Given the description of an element on the screen output the (x, y) to click on. 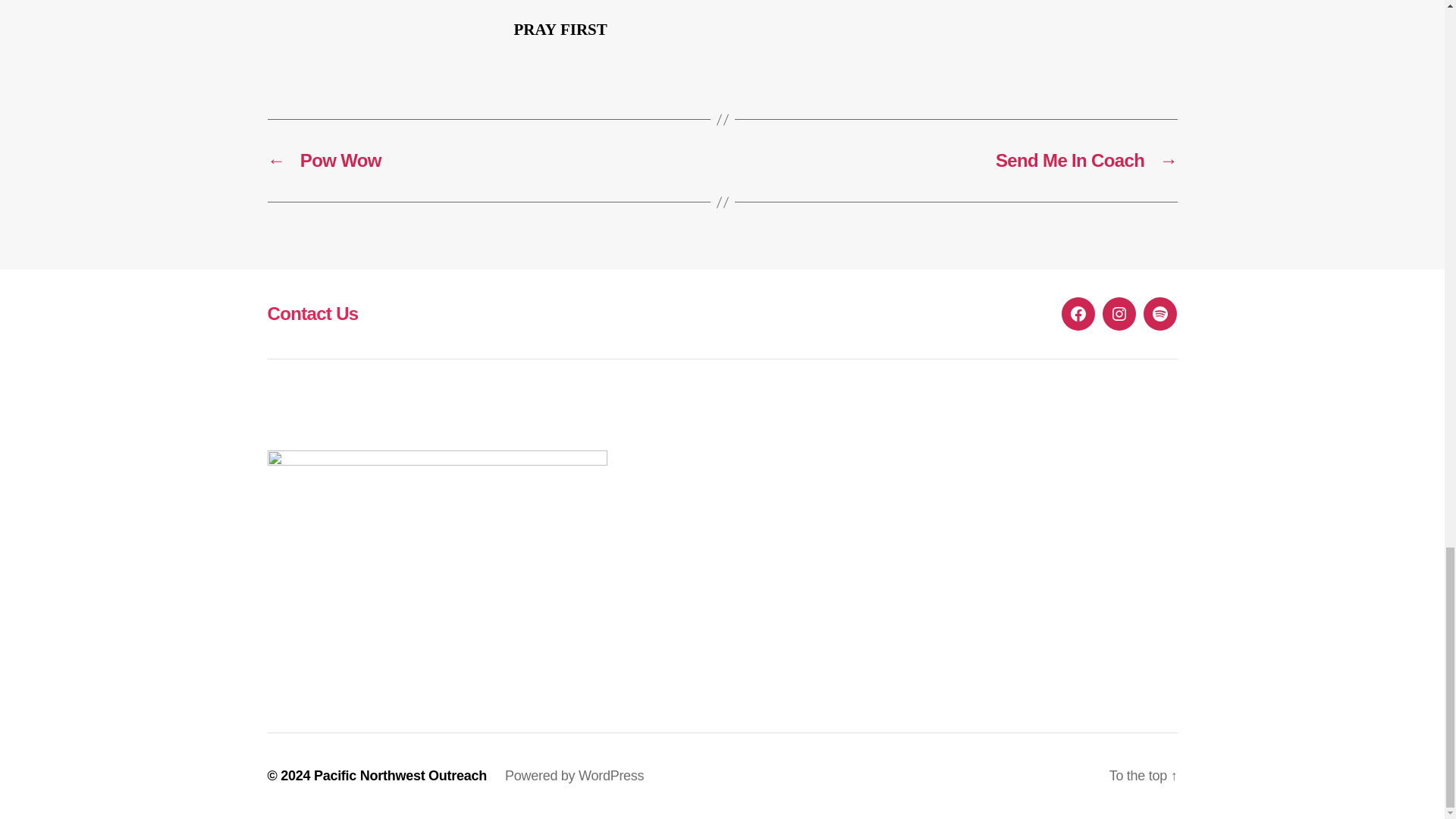
Powered by WordPress (574, 775)
Pacific Northwest Outreach (400, 775)
Facebook (1077, 313)
spotify (1159, 313)
Contact Us (312, 313)
Instagram (1118, 313)
